Given the description of an element on the screen output the (x, y) to click on. 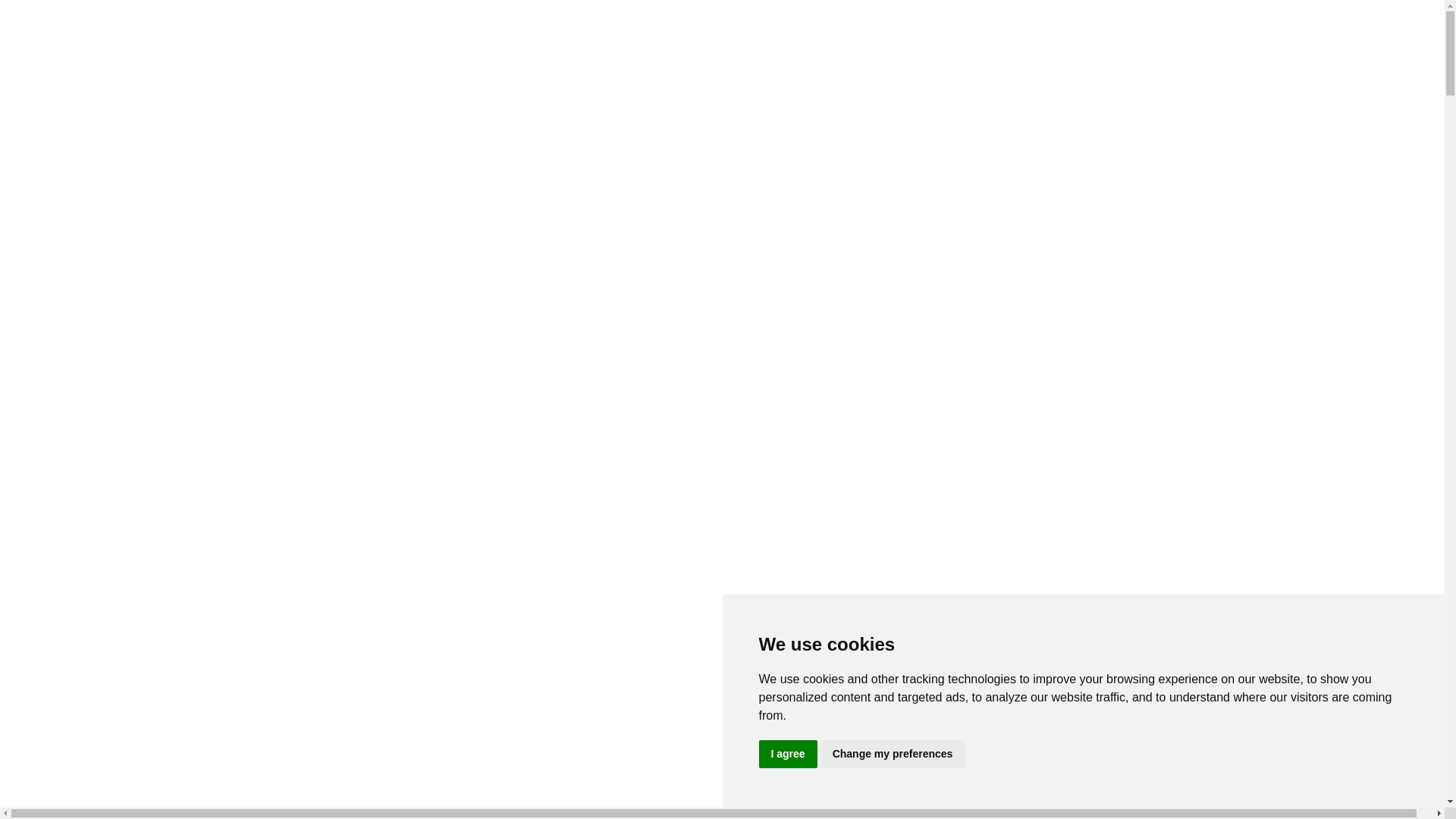
Contact Element type: text (55, 168)
WEB DESIGN & UX Element type: text (120, 780)
Video
studio Element type: text (89, 107)
I agree Element type: text (787, 754)
References Element type: text (63, 31)
Linkedin Element type: hover (41, 590)
About us Element type: text (58, 671)
321 Creative Crew Element type: hover (722, 537)
Instagram Element type: hover (41, 262)
Instagram Element type: hover (41, 262)
CZ Element type: text (43, 645)
Video <br />studio Element type: hover (73, 100)
Instagram Element type: hover (41, 631)
Pinterest Element type: hover (40, 248)
Graphic
studio Element type: text (93, 52)
Packaging design Element type: text (108, 766)
Vimeo Element type: hover (41, 577)
Graphic
studio Element type: text (61, 705)
Vimeo Element type: hover (41, 207)
Linkedin Element type: hover (41, 221)
Instagram Element type: hover (41, 631)
Website
development Element type: text (97, 79)
Technologies
a products Element type: text (105, 134)
Behance Element type: hover (43, 235)
Facebook Element type: hover (39, 194)
CZ Element type: text (43, 275)
Behance Element type: hover (43, 604)
Graphic <br />studio Element type: hover (42, 698)
Website
development Element type: text (67, 800)
Facebook Element type: hover (39, 194)
Graphic <br />studio Element type: hover (72, 45)
Website<br />development Element type: hover (73, 72)
Pinterest Element type: hover (40, 248)
Facebook Element type: hover (39, 563)
Vimeo Element type: hover (41, 577)
Linkedin Element type: hover (41, 590)
Clients Element type: text (53, 154)
Vimeo Element type: hover (41, 207)
Change my preferences Element type: text (892, 754)
Pinterest Element type: hover (40, 617)
References Element type: text (63, 684)
Website<br />development Element type: hover (43, 793)
Corporate publications Element type: text (121, 752)
Facebook Element type: hover (39, 563)
Pinterest Element type: hover (40, 617)
About us Element type: text (58, 18)
Linkedin Element type: hover (41, 221)
Behance Element type: hover (43, 604)
Logo design / Brand Element type: text (116, 725)
Corporate identity Element type: text (110, 739)
Behance Element type: hover (43, 235)
Technologies <br />a products Element type: hover (71, 127)
